Given the description of an element on the screen output the (x, y) to click on. 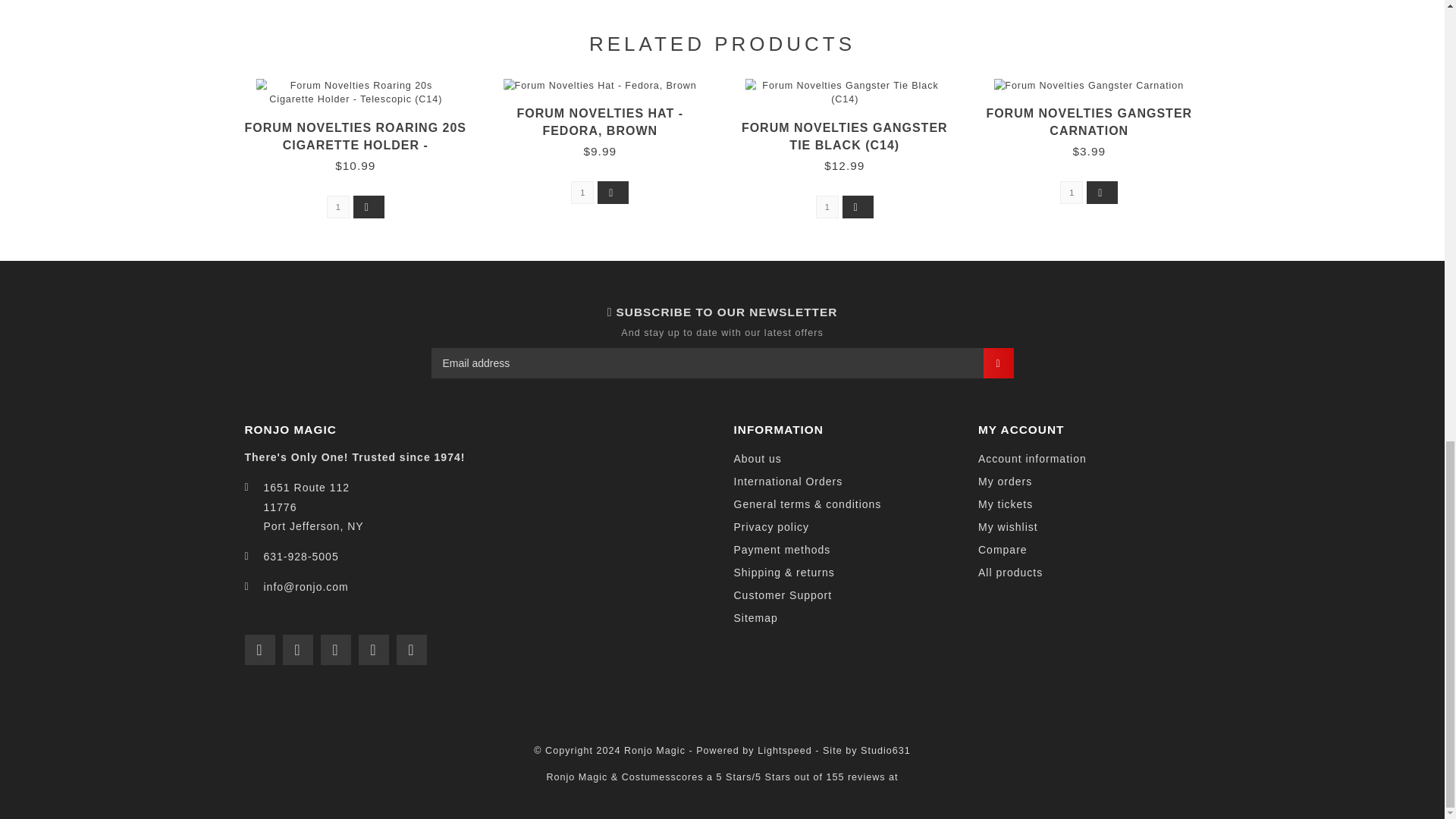
1 (337, 206)
1 (826, 206)
1 (1071, 191)
1 (582, 191)
